Given the description of an element on the screen output the (x, y) to click on. 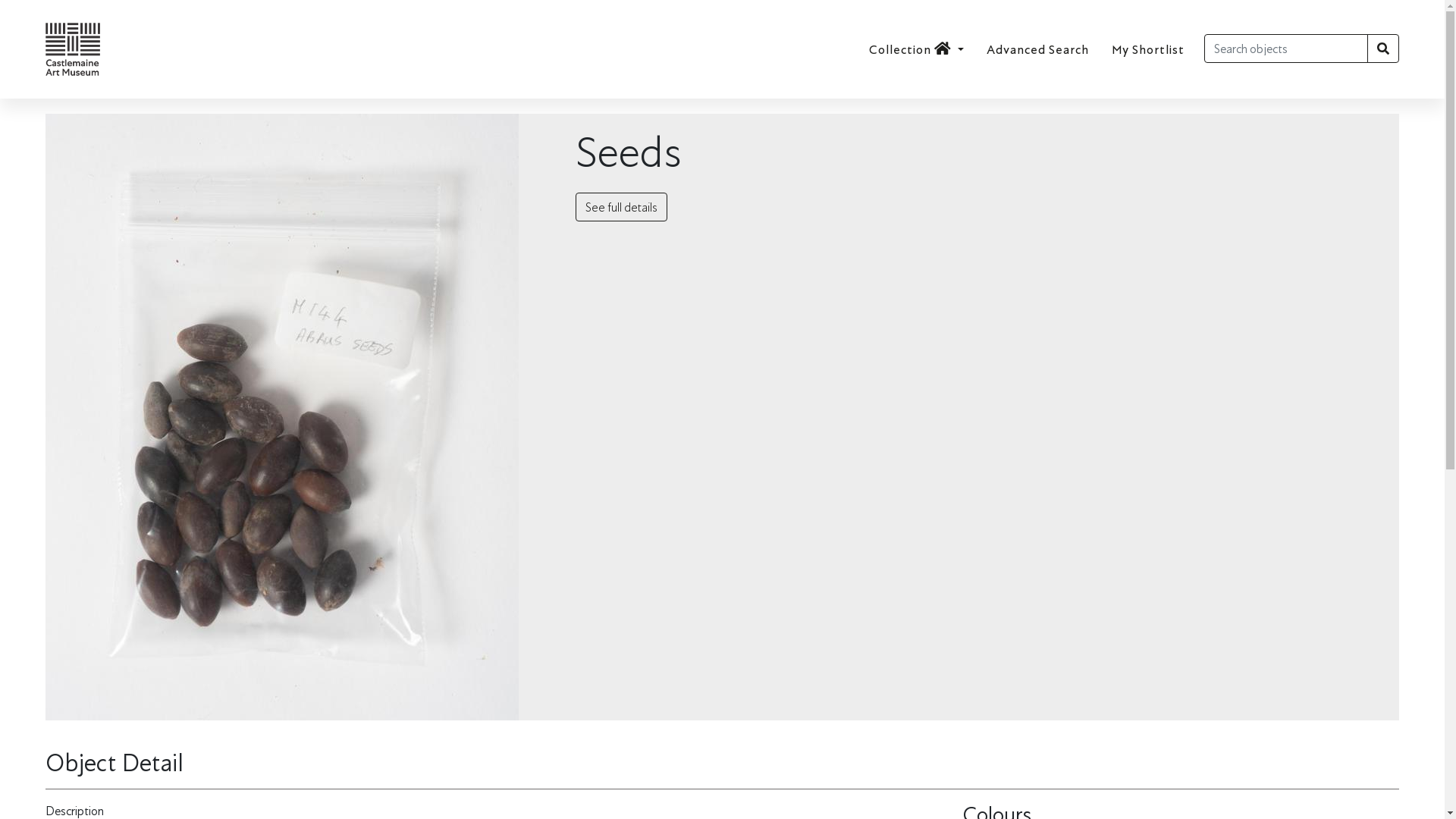
Advanced Search Element type: text (1037, 49)
search Element type: text (1383, 48)
See full details Element type: text (621, 206)
My Shortlist Element type: text (1147, 49)
Collection  Element type: text (909, 49)
